Given the description of an element on the screen output the (x, y) to click on. 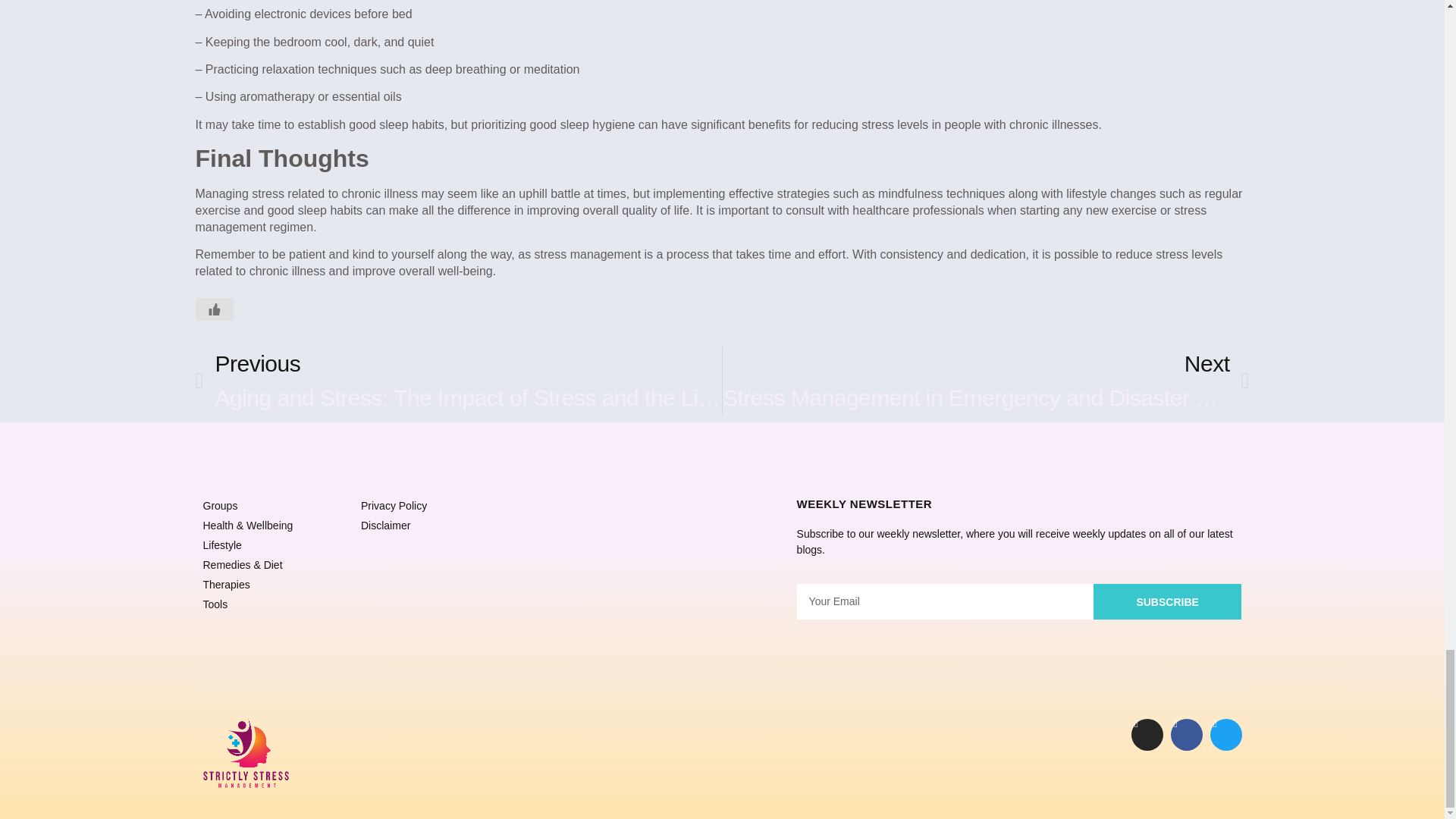
Lifestyle (274, 545)
Tools (274, 604)
Therapies (274, 584)
Privacy Policy (432, 505)
Disclaimer (432, 525)
SUBSCRIBE (985, 380)
Groups (1167, 601)
